Given the description of an element on the screen output the (x, y) to click on. 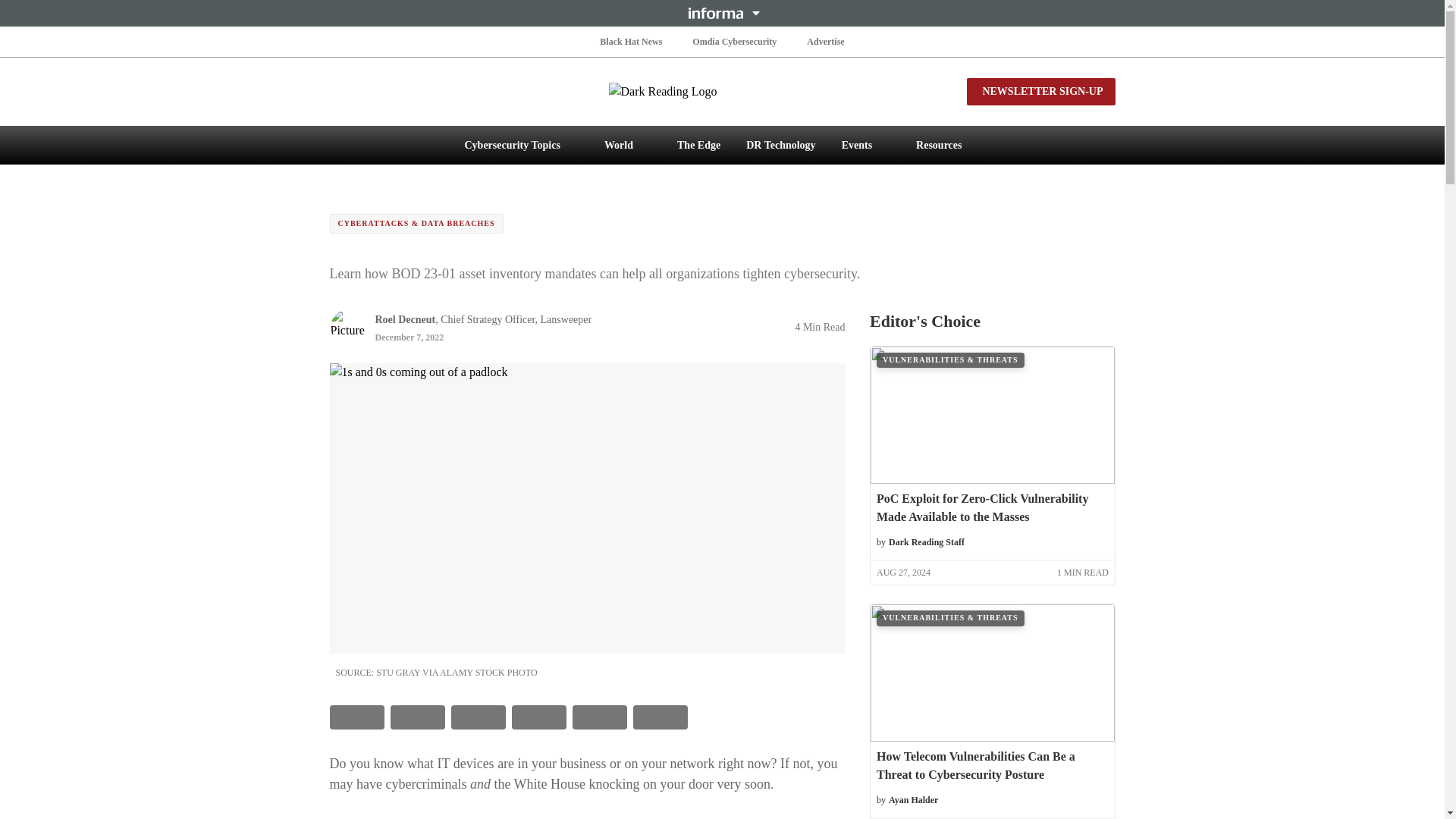
Omdia Cybersecurity (733, 41)
NEWSLETTER SIGN-UP (1040, 90)
Advertise (825, 41)
Picture of Roel Decneut (347, 326)
Black Hat News (630, 41)
Dark Reading Logo (721, 91)
